Given the description of an element on the screen output the (x, y) to click on. 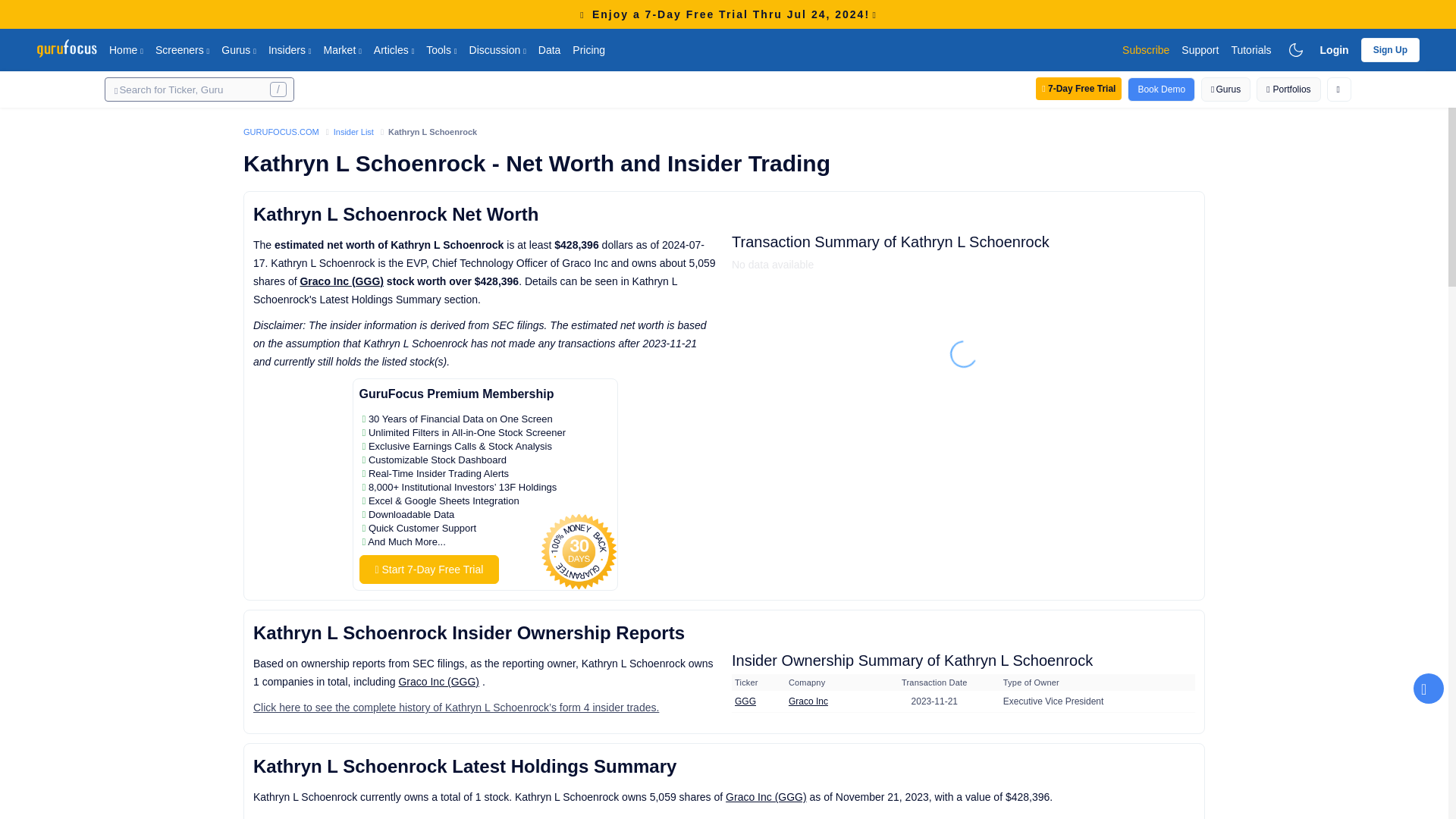
Sign Up (1390, 49)
Login (1334, 49)
Screeners (182, 49)
Sign Up (1390, 49)
Home (126, 49)
